Given the description of an element on the screen output the (x, y) to click on. 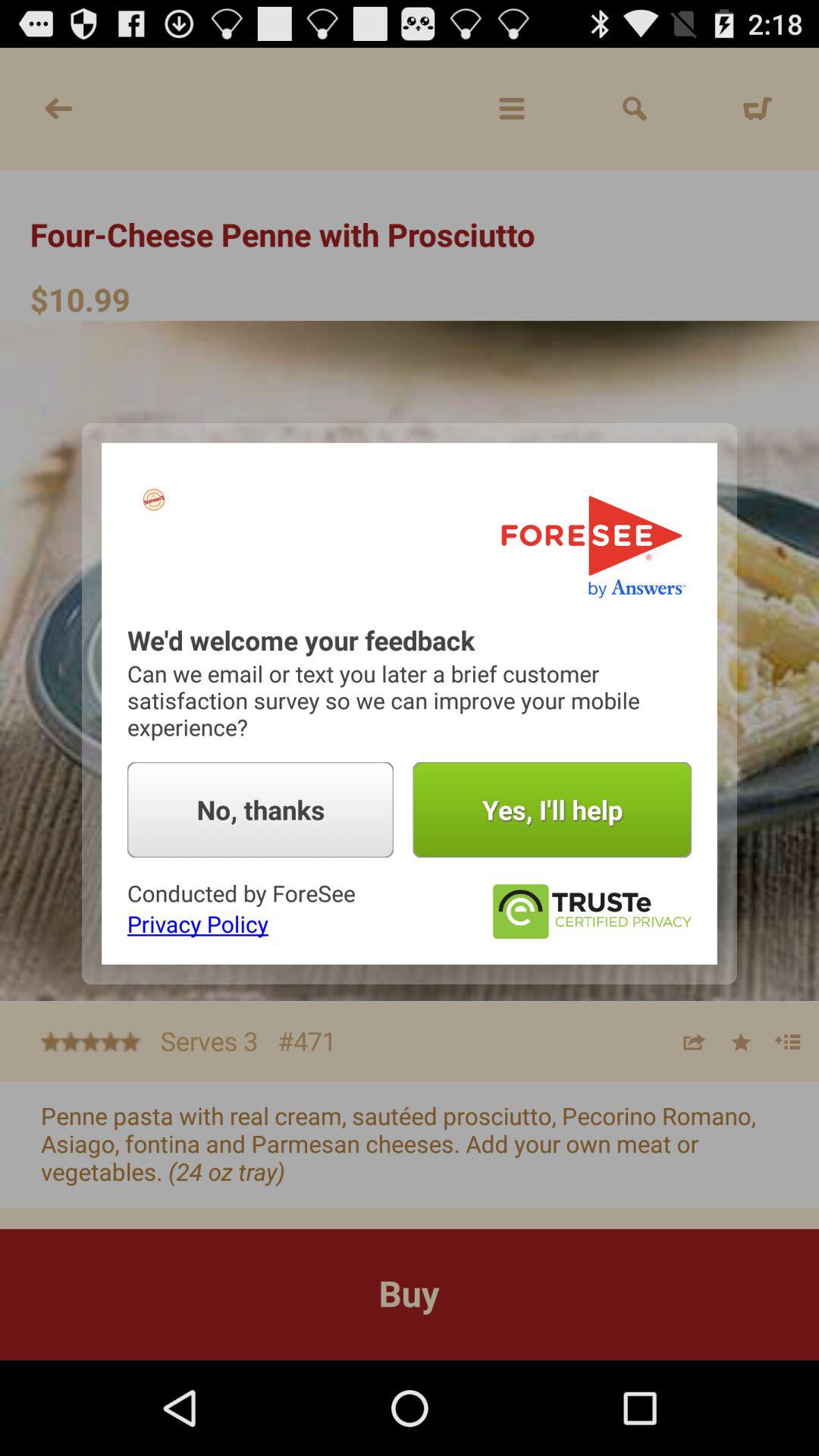
open link (591, 911)
